Given the description of an element on the screen output the (x, y) to click on. 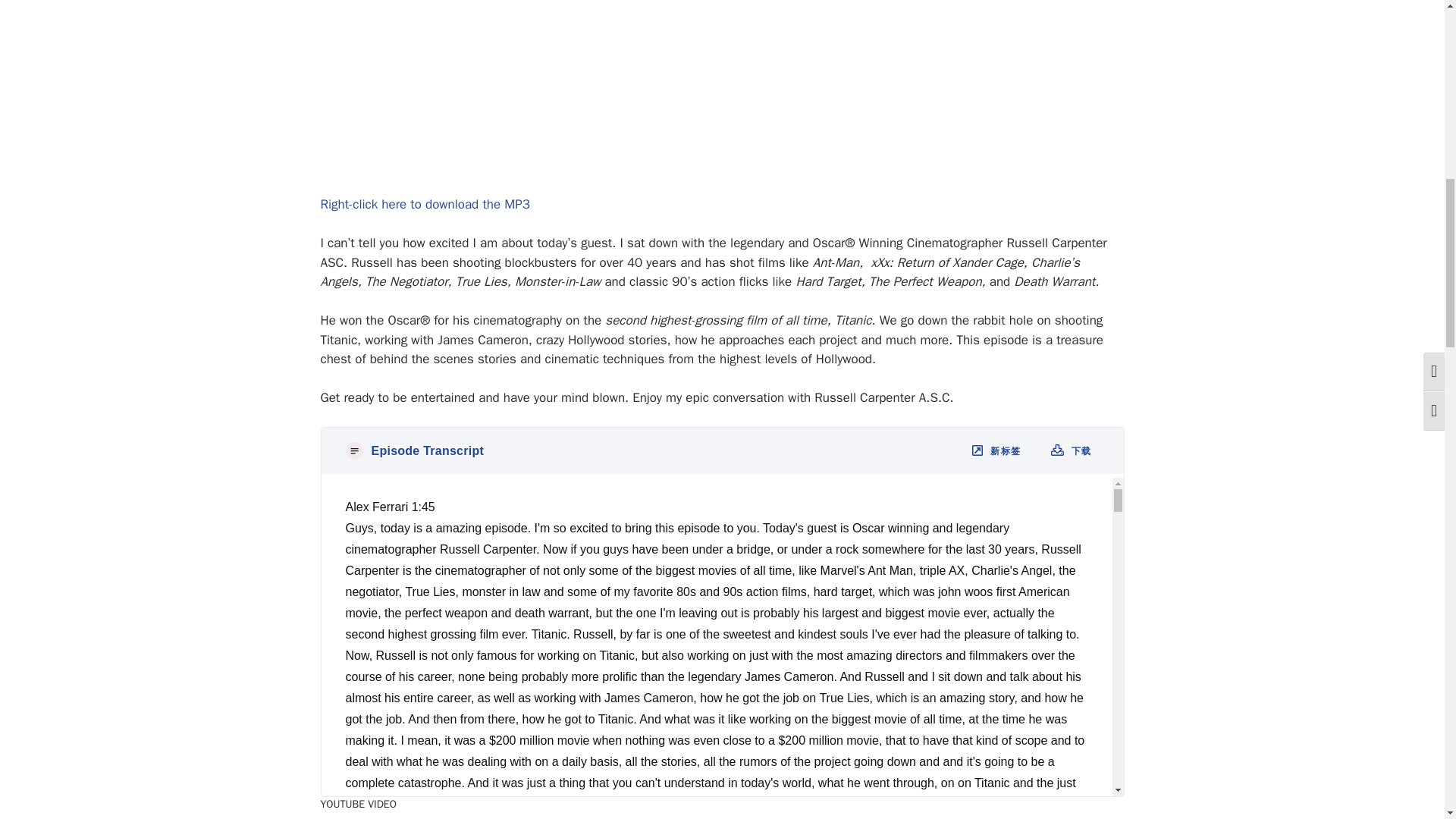
Right-click here to download the MP3 (424, 204)
